Given the description of an element on the screen output the (x, y) to click on. 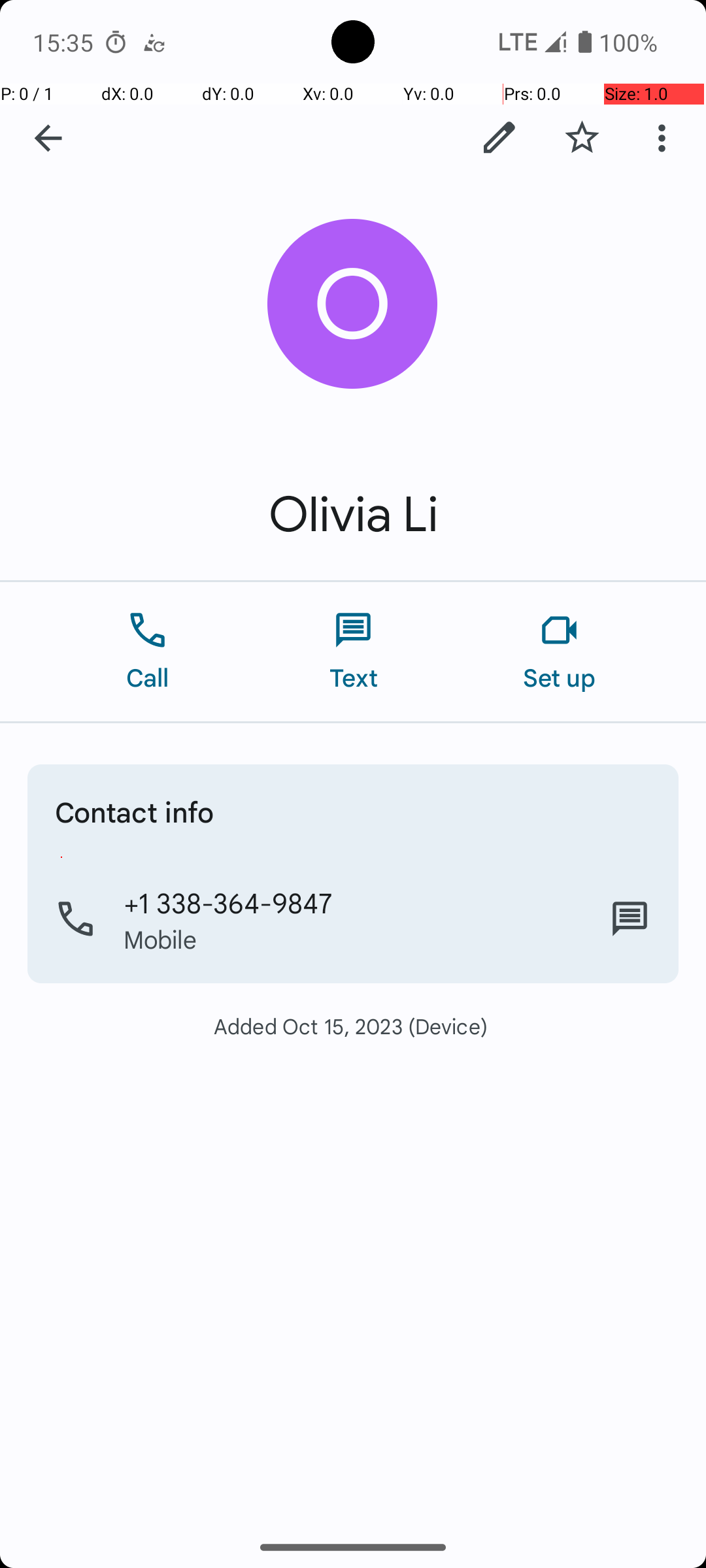
Contact photo Element type: android.widget.ImageView (352, 303)
Set up Element type: android.widget.TextView (559, 651)
Olivia Li Element type: android.widget.TextView (352, 514)
Contact info Element type: android.widget.TextView (134, 811)
Call Mobile +1 338-364-9847 Element type: android.widget.RelativeLayout (352, 919)
Added Oct 15, 2023 (Device)  Element type: android.widget.TextView (352, 1025)
+1 338-364-9847 Element type: android.widget.TextView (228, 901)
Text Mobile +1 338-364-9847 Element type: android.widget.Button (629, 919)
